Given the description of an element on the screen output the (x, y) to click on. 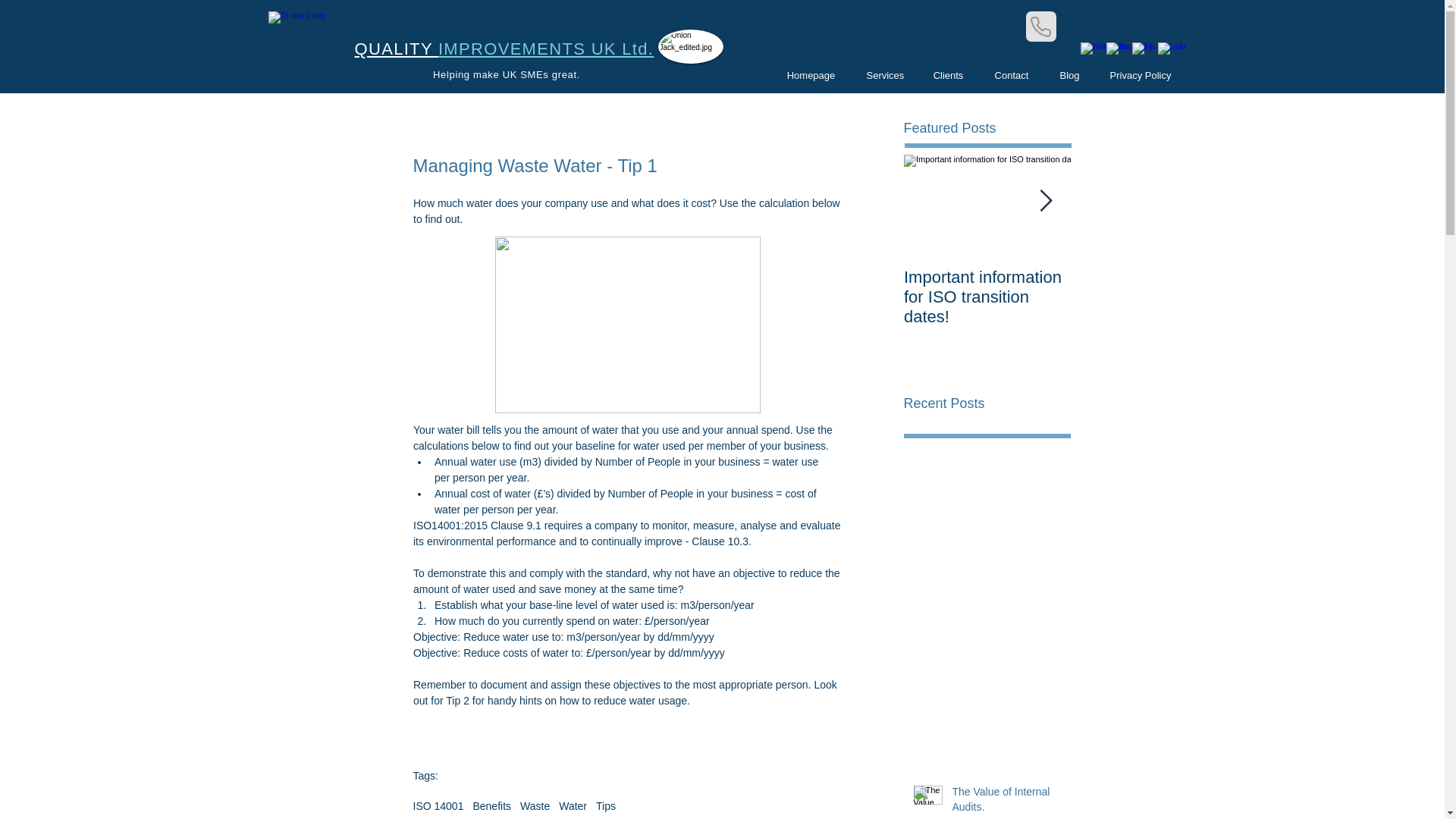
Privacy Policy (1140, 75)
Benefits (491, 806)
Services (883, 75)
Contact (1010, 75)
Clients (947, 75)
Homepage (810, 75)
Blog (1069, 75)
Two new pages! (1153, 277)
Important information for ISO transition dates! (987, 296)
Water (572, 806)
Tips (605, 806)
QUALITY IMPROVEMENTS UK Ltd. (504, 48)
The Value of Internal Audits. (1006, 801)
Waste (534, 806)
ISO 14001 (437, 806)
